Given the description of an element on the screen output the (x, y) to click on. 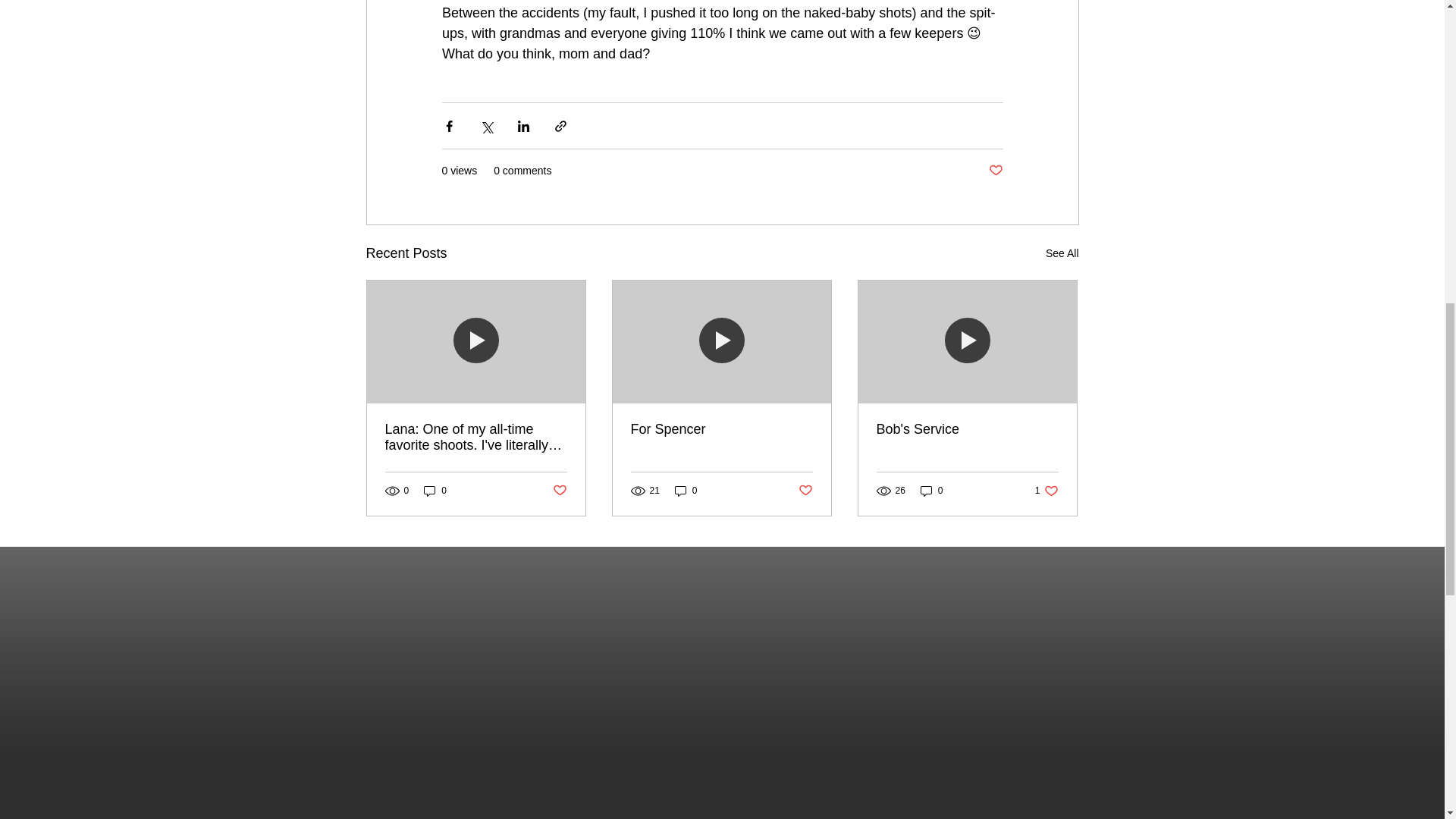
0 (685, 490)
For Spencer (721, 429)
0 (435, 490)
0 (931, 490)
Bob's Service (967, 429)
See All (1061, 253)
Post not marked as liked (1046, 490)
Post not marked as liked (804, 490)
